Given the description of an element on the screen output the (x, y) to click on. 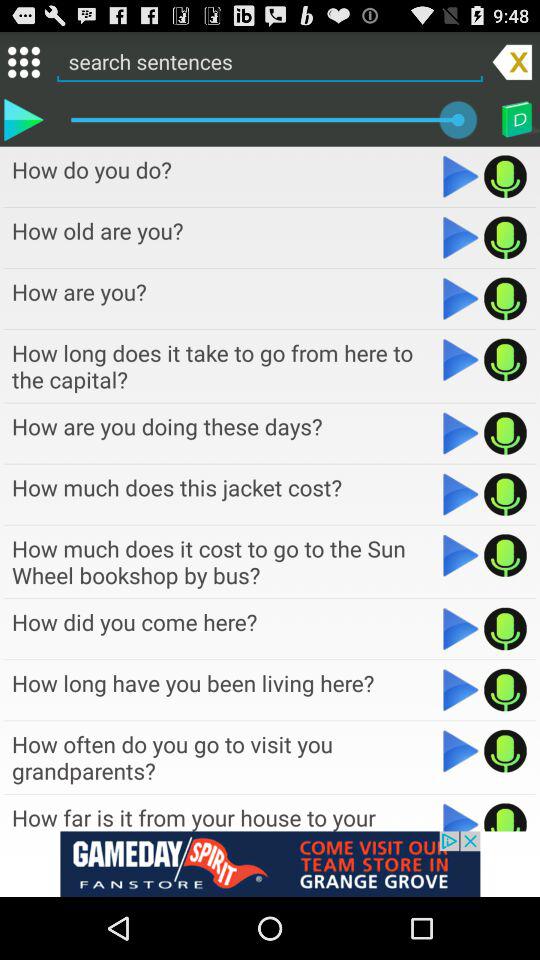
record audio (505, 555)
